Given the description of an element on the screen output the (x, y) to click on. 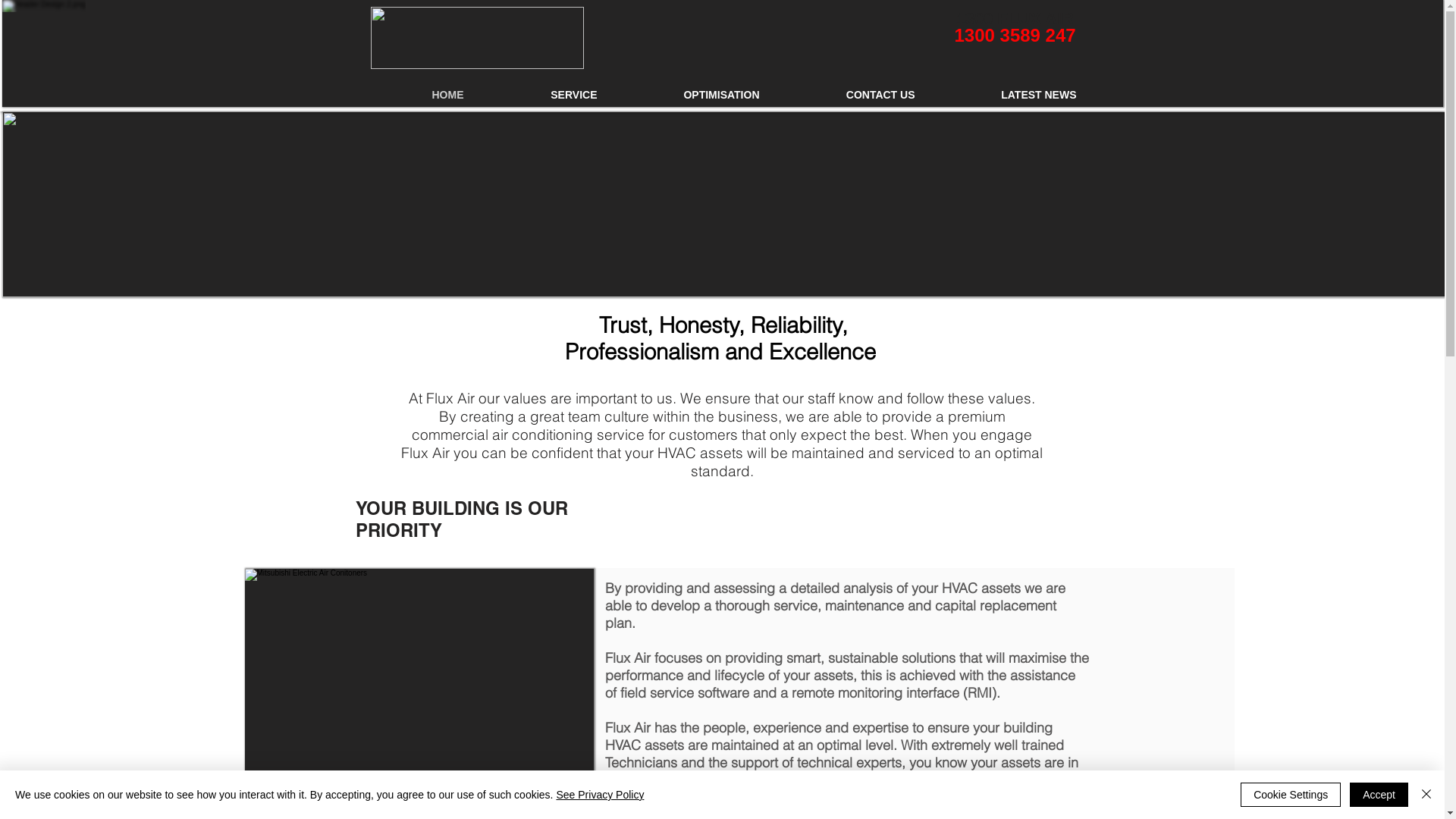
Accept Element type: text (1378, 794)
See Privacy Policy Element type: text (599, 794)
SERVICE Element type: text (541, 95)
LATEST NEWS Element type: text (1007, 95)
Cookie Settings Element type: text (1290, 794)
HOME Element type: text (415, 95)
OPTIMISATION Element type: text (689, 95)
CONTACT US Element type: text (847, 95)
